Given the description of an element on the screen output the (x, y) to click on. 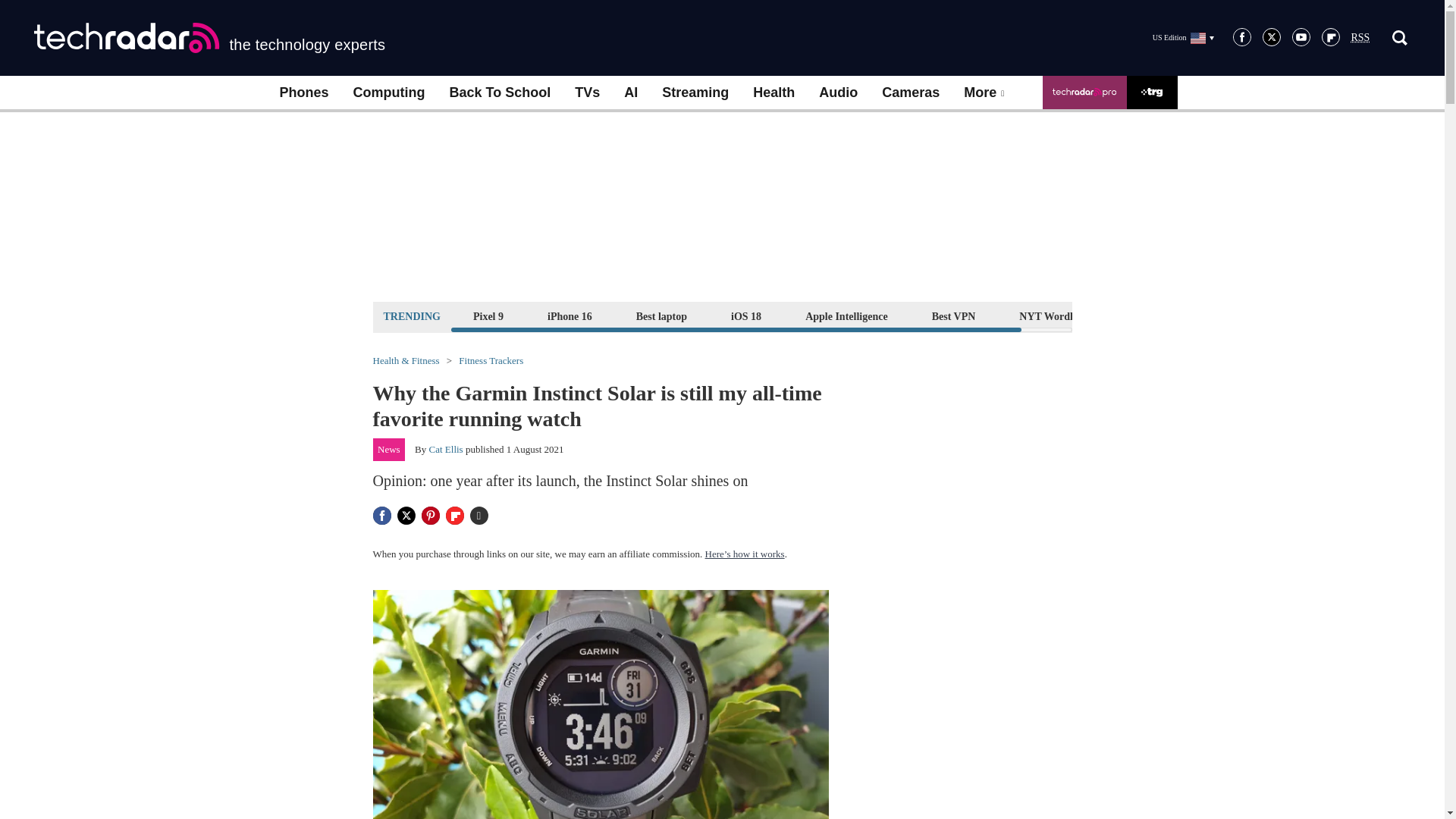
Audio (837, 92)
the technology experts (209, 38)
Streaming (695, 92)
US Edition (1182, 37)
Really Simple Syndication (1360, 37)
Phones (303, 92)
TVs (586, 92)
Health (773, 92)
Computing (389, 92)
AI (630, 92)
